Given the description of an element on the screen output the (x, y) to click on. 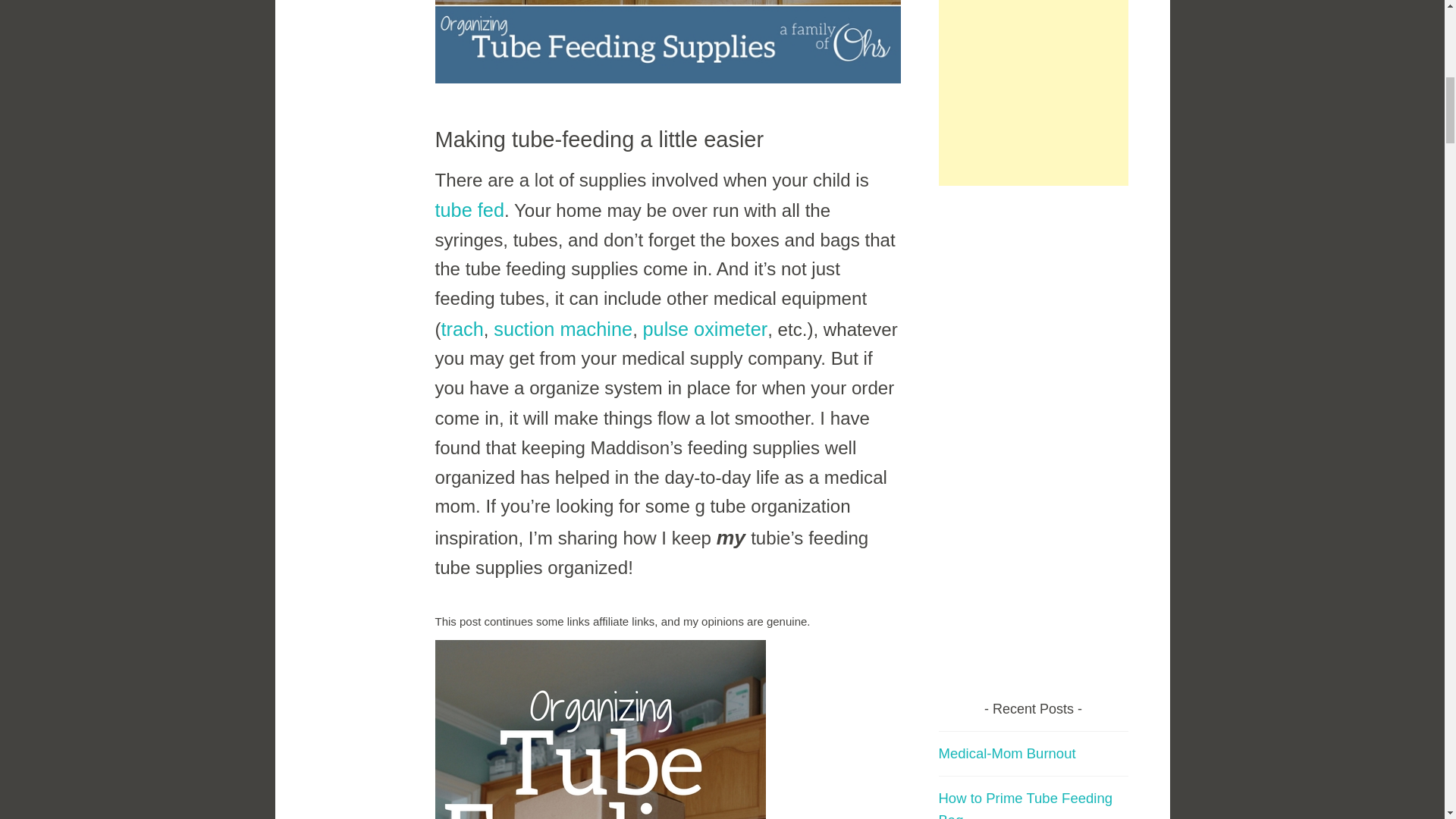
trach (462, 328)
Medical-Mom Burnout (1007, 753)
suction machine (562, 328)
How to Prime Tube Feeding Bag (1026, 804)
tube fed (470, 209)
pulse oximeter (705, 328)
